Given the description of an element on the screen output the (x, y) to click on. 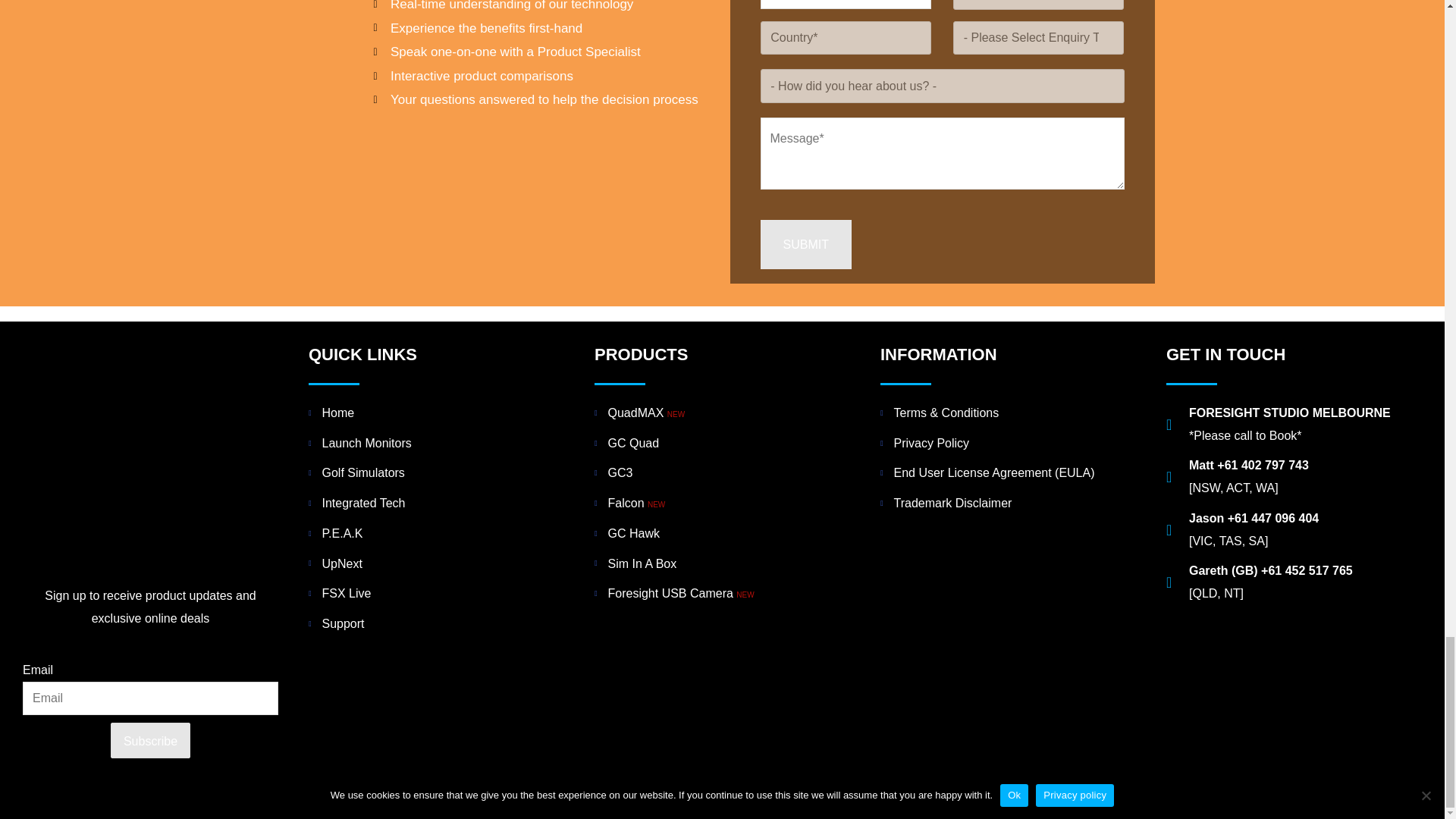
SUBMIT (805, 245)
